Given the description of an element on the screen output the (x, y) to click on. 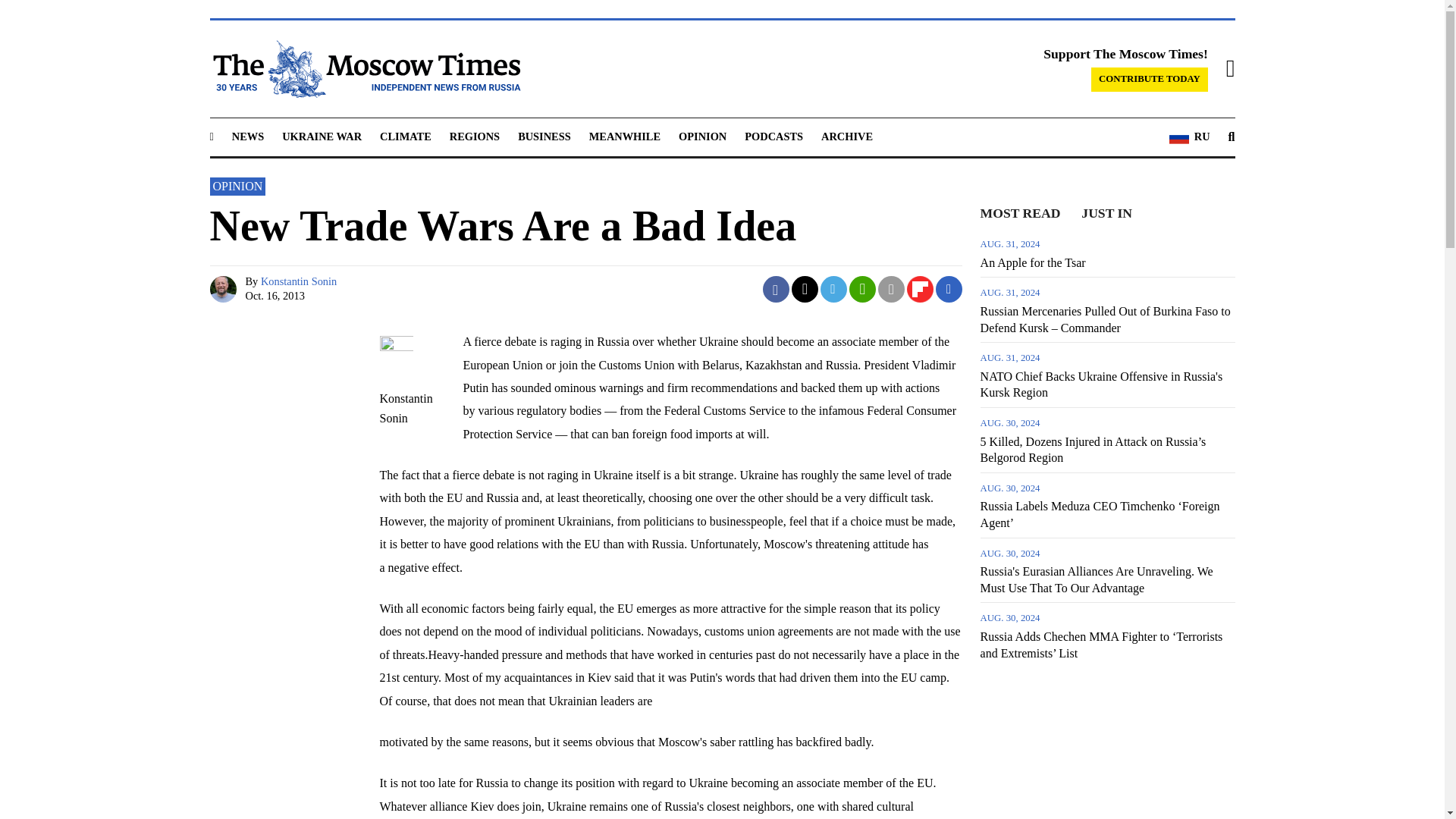
Share on Flipboard (920, 289)
MEANWHILE (625, 136)
BUSINESS (544, 136)
OPINION (702, 136)
ARCHIVE (846, 136)
RU (1189, 137)
NEWS (247, 136)
Share on Facebook (775, 289)
Share on Twitter (805, 289)
CONTRIBUTE TODAY (1149, 79)
